Given the description of an element on the screen output the (x, y) to click on. 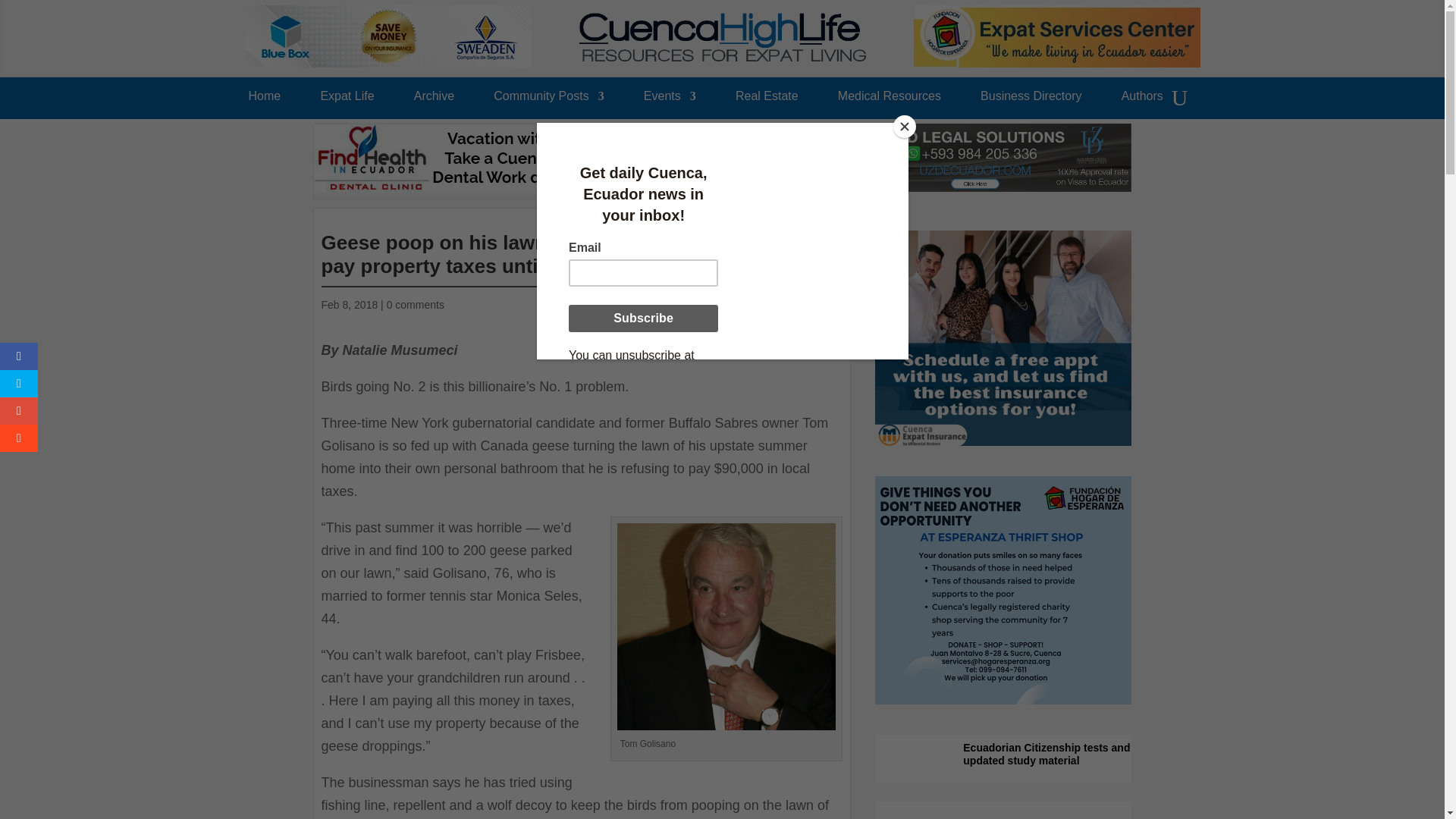
Medical Resources (889, 100)
Business Directory (1030, 100)
Expat Life (347, 100)
Real Estate (766, 100)
Home (264, 100)
Authors (1142, 100)
Ecuadorian Citizenship tests and updated study material (1046, 758)
icon-cuencahighlife (824, 219)
Archive (433, 100)
Community Posts (548, 100)
logo-chl-2 (722, 37)
Events (669, 100)
0 comments (415, 304)
